Given the description of an element on the screen output the (x, y) to click on. 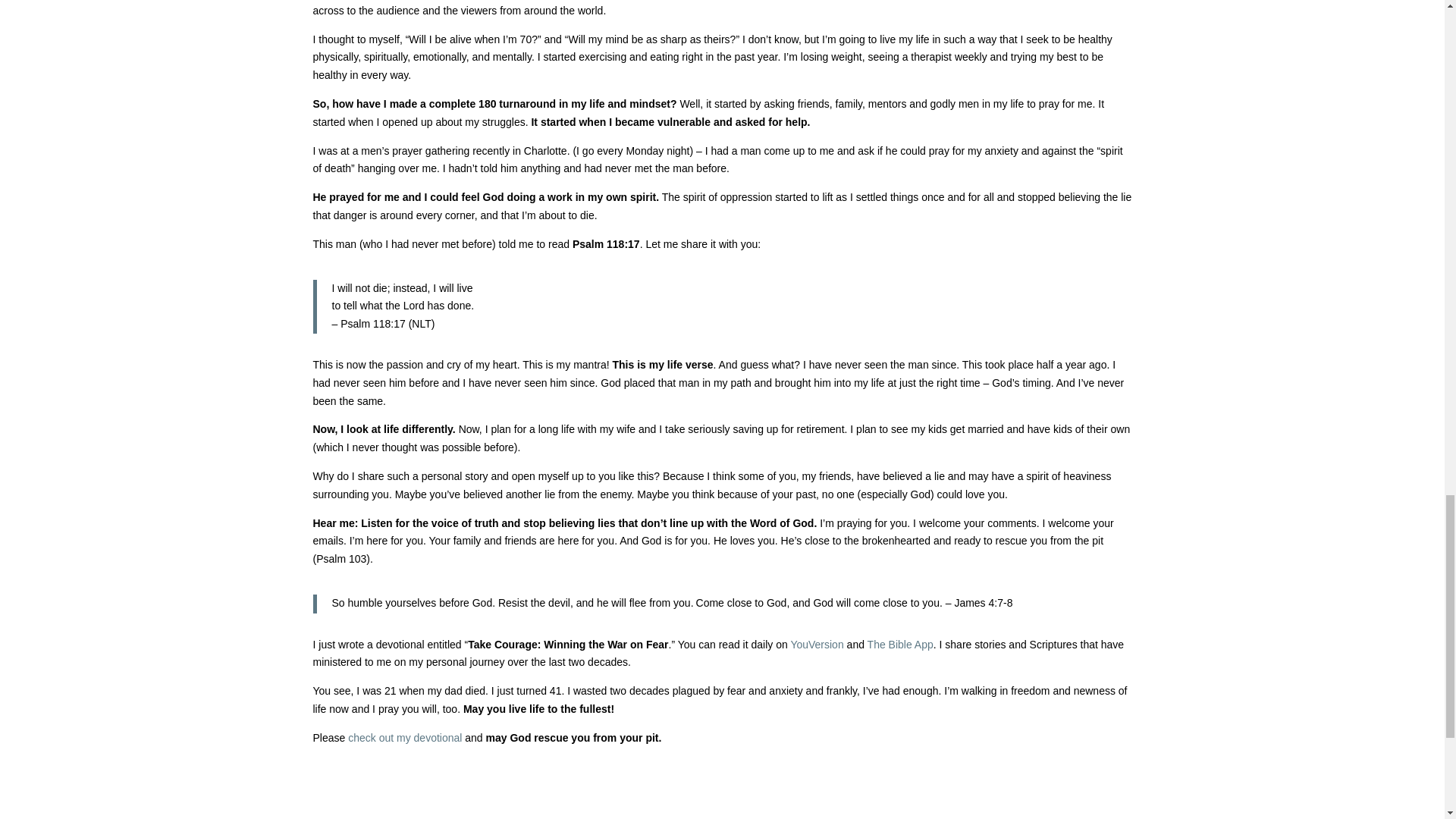
The Bible App (900, 644)
check out my devotional (405, 737)
YouVersion (816, 644)
